Given the description of an element on the screen output the (x, y) to click on. 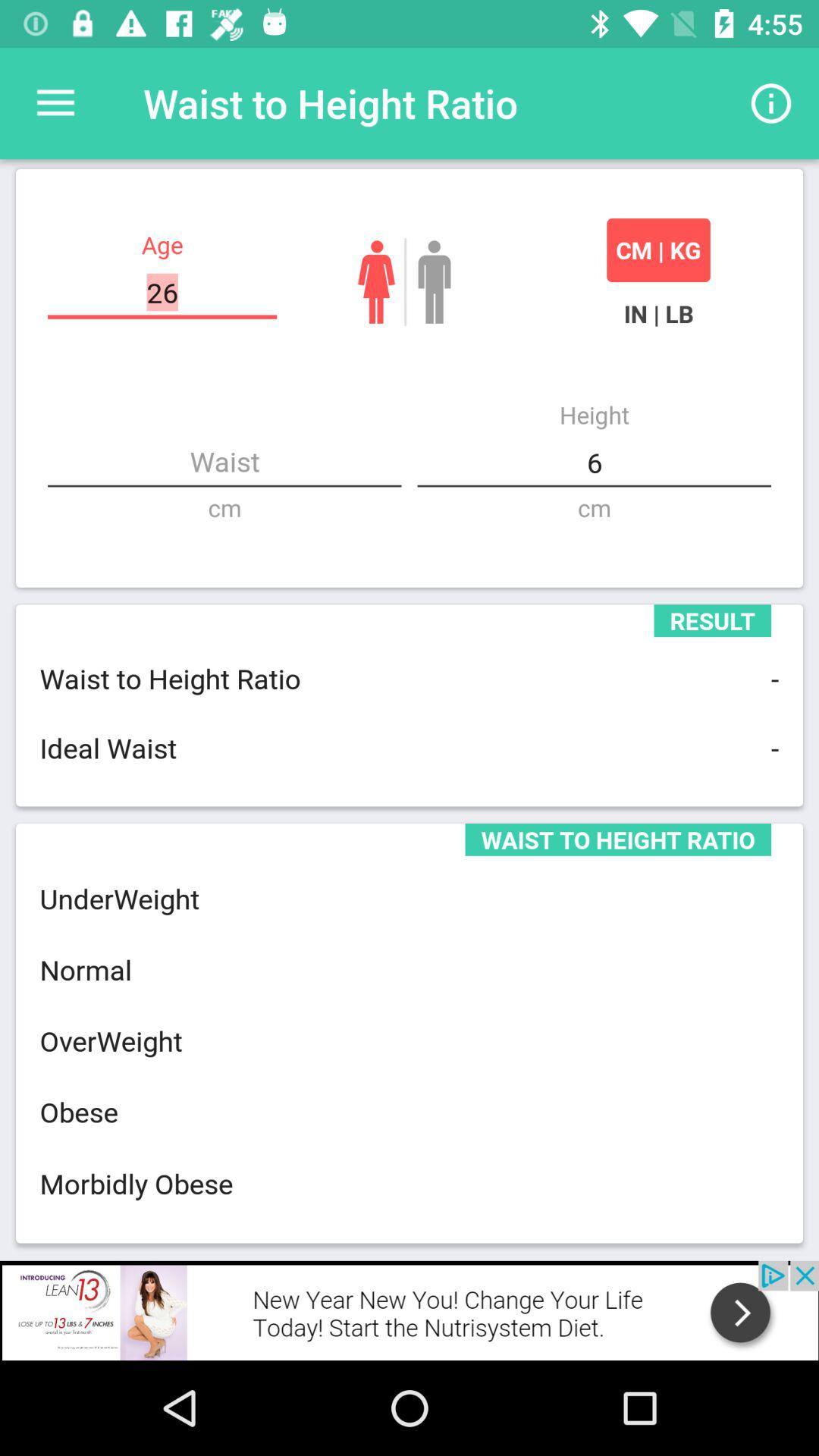
waist size (224, 462)
